Given the description of an element on the screen output the (x, y) to click on. 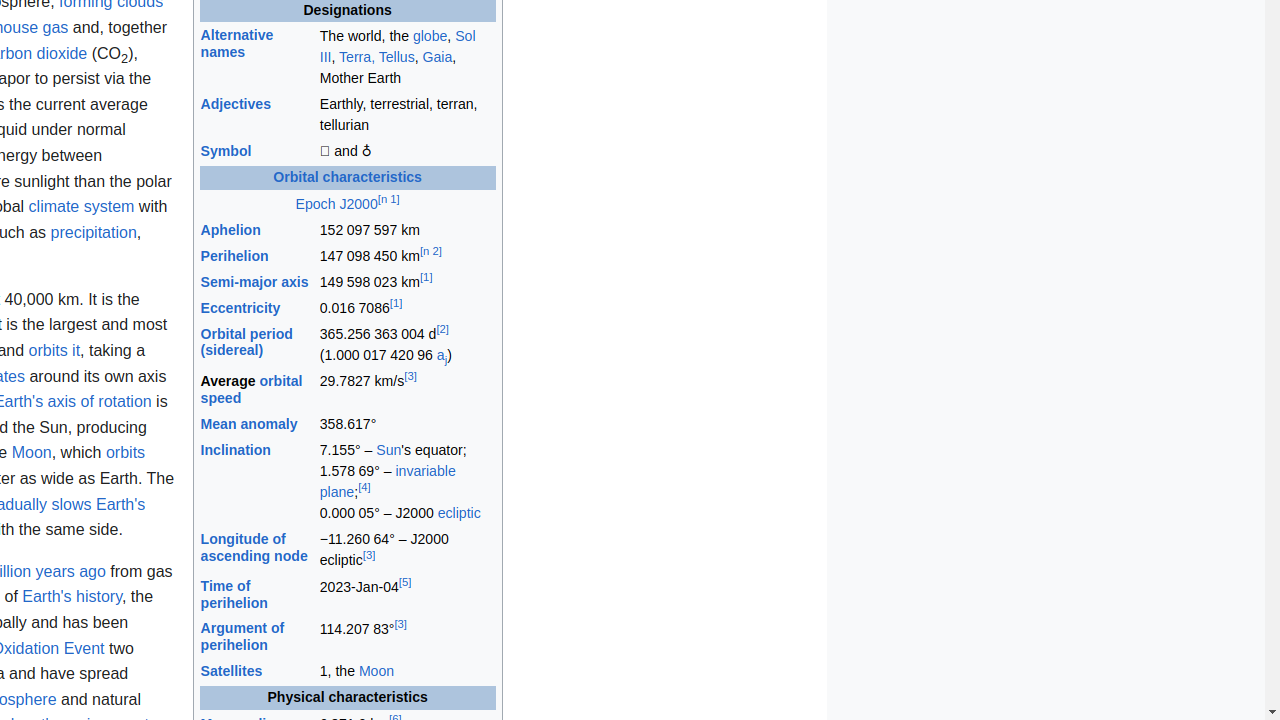
[1] Element type: link (426, 277)
Orbital characteristics Element type: link (347, 177)
1, the Moon Element type: table-cell (407, 672)
Argument of perihelion Element type: link (242, 637)
Perihelion Element type: link (234, 255)
